Given the description of an element on the screen output the (x, y) to click on. 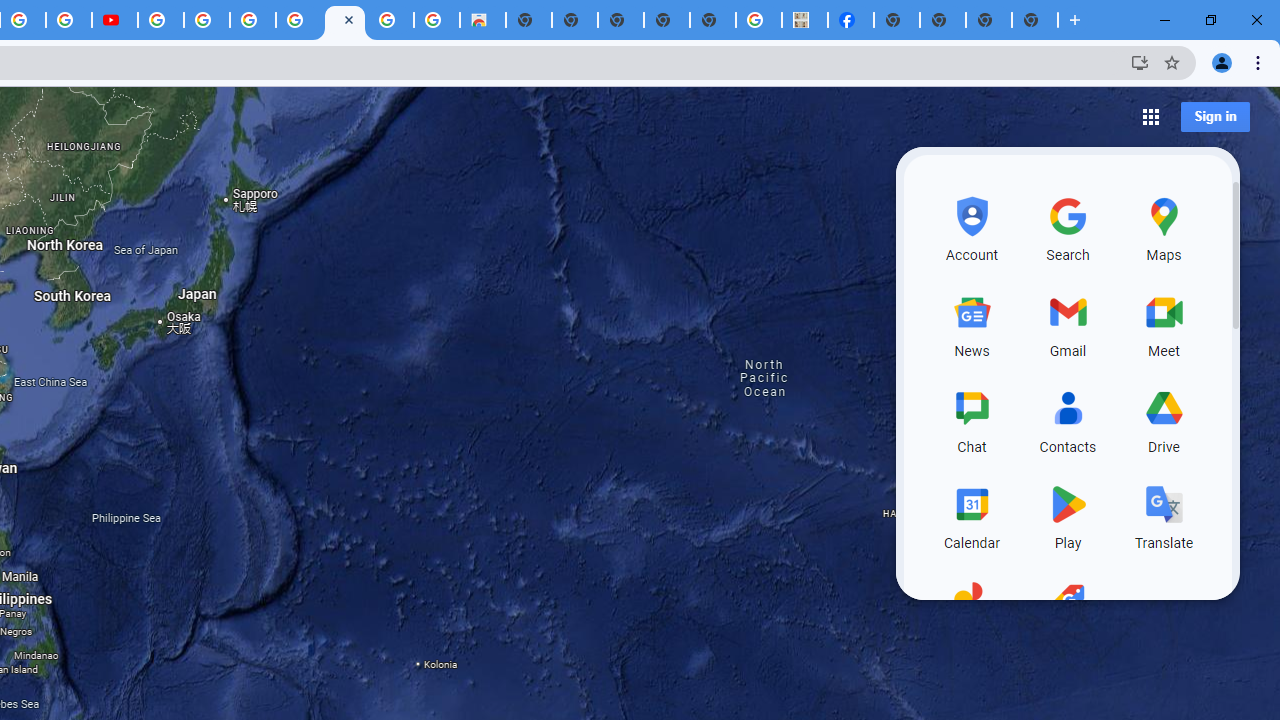
How Chrome protects your passwords - Google Chrome Help (161, 20)
MILEY CYRUS. (805, 20)
